Given the description of an element on the screen output the (x, y) to click on. 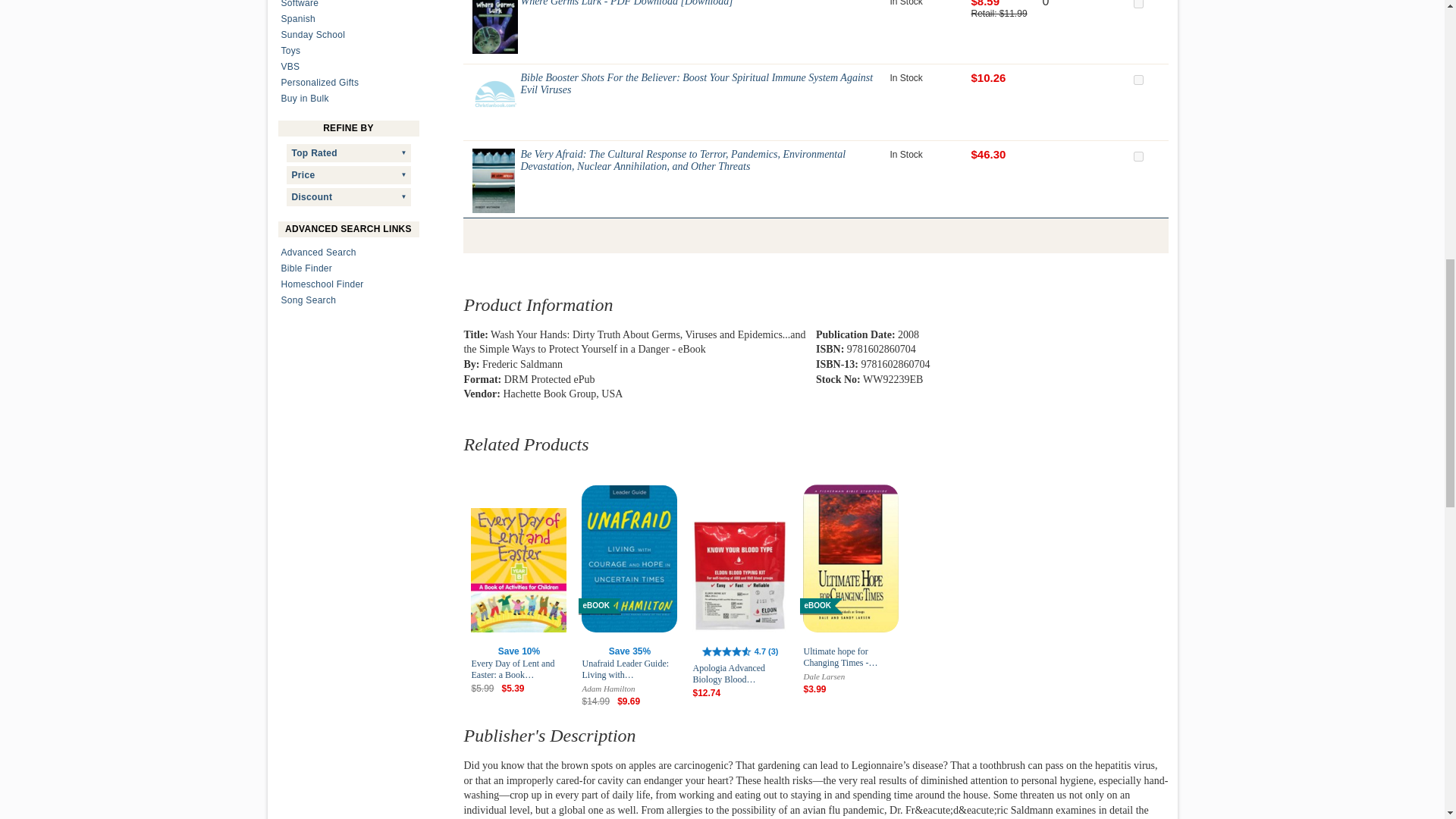
27730DF (1137, 4)
964024 (1137, 156)
832944 (1137, 80)
